Given the description of an element on the screen output the (x, y) to click on. 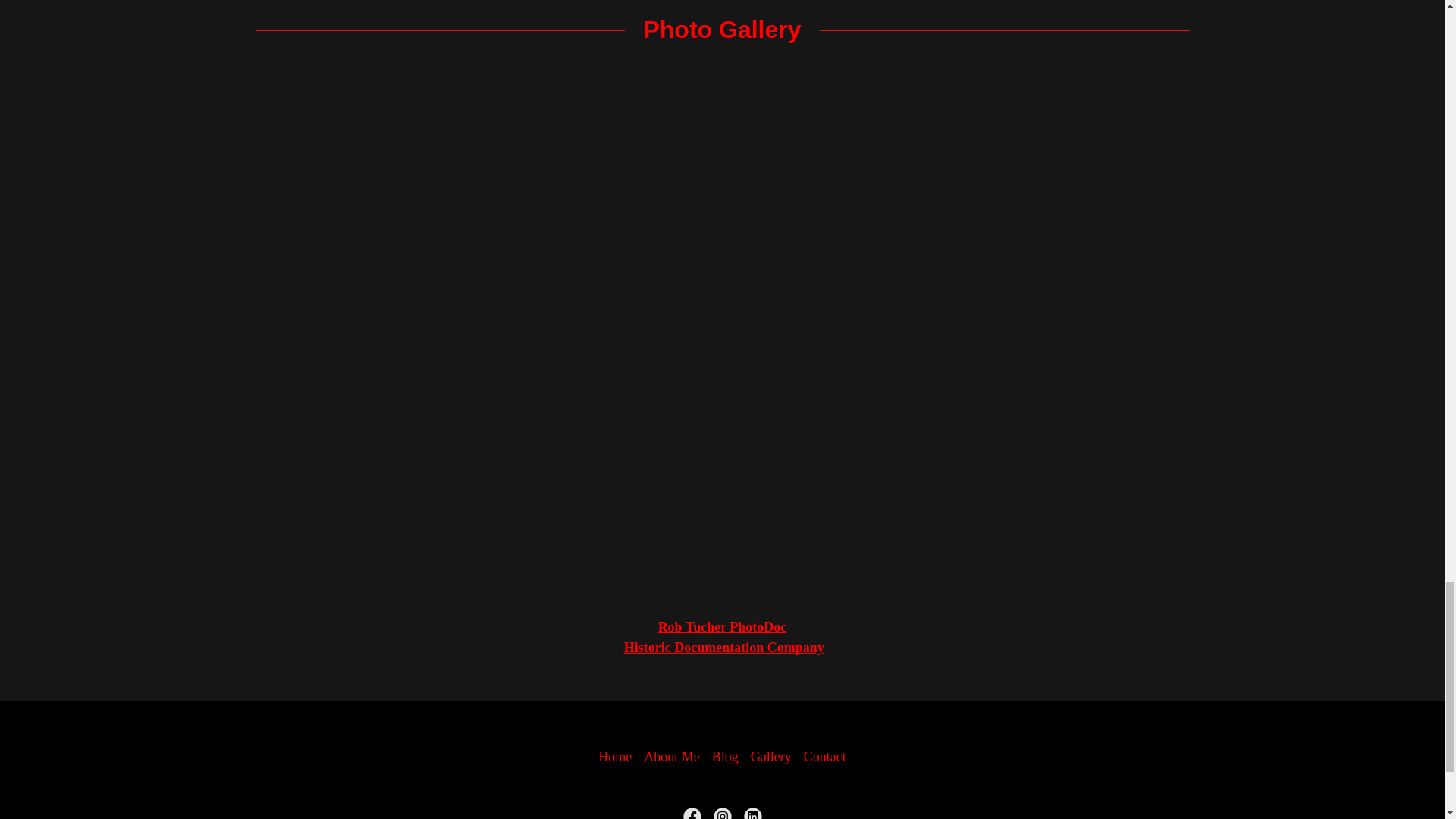
Gallery (770, 756)
Contact (824, 756)
Home (614, 756)
Blog (725, 756)
Historic Documentation Company (724, 647)
Rob Tucher PhotoDoc (722, 626)
About Me (671, 756)
